Given the description of an element on the screen output the (x, y) to click on. 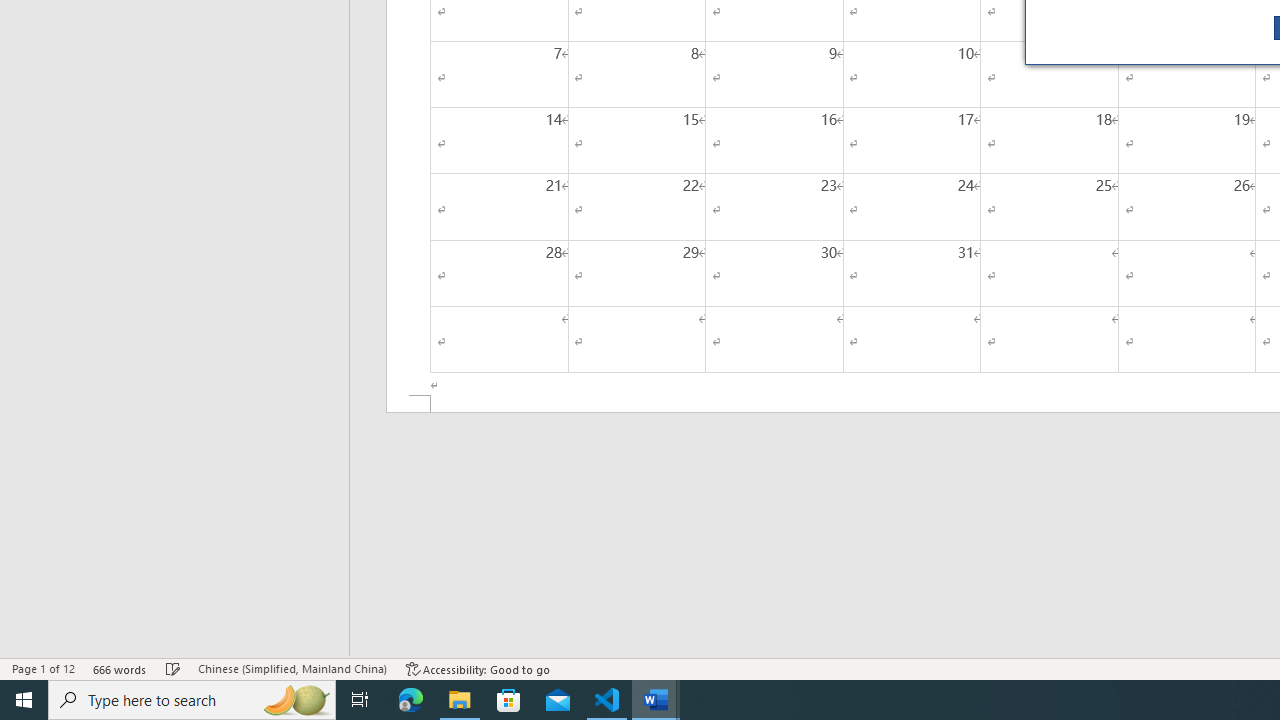
Spelling and Grammar Check Checking (173, 668)
Accessibility Checker Accessibility: Good to go (478, 668)
Start (24, 699)
Microsoft Edge (411, 699)
Search highlights icon opens search home window (295, 699)
Word - 2 running windows (656, 699)
Type here to search (191, 699)
Microsoft Store (509, 699)
Task View (359, 699)
Visual Studio Code - 1 running window (607, 699)
Page Number Page 1 of 12 (43, 668)
File Explorer - 1 running window (460, 699)
Word Count 666 words (119, 668)
